Given the description of an element on the screen output the (x, y) to click on. 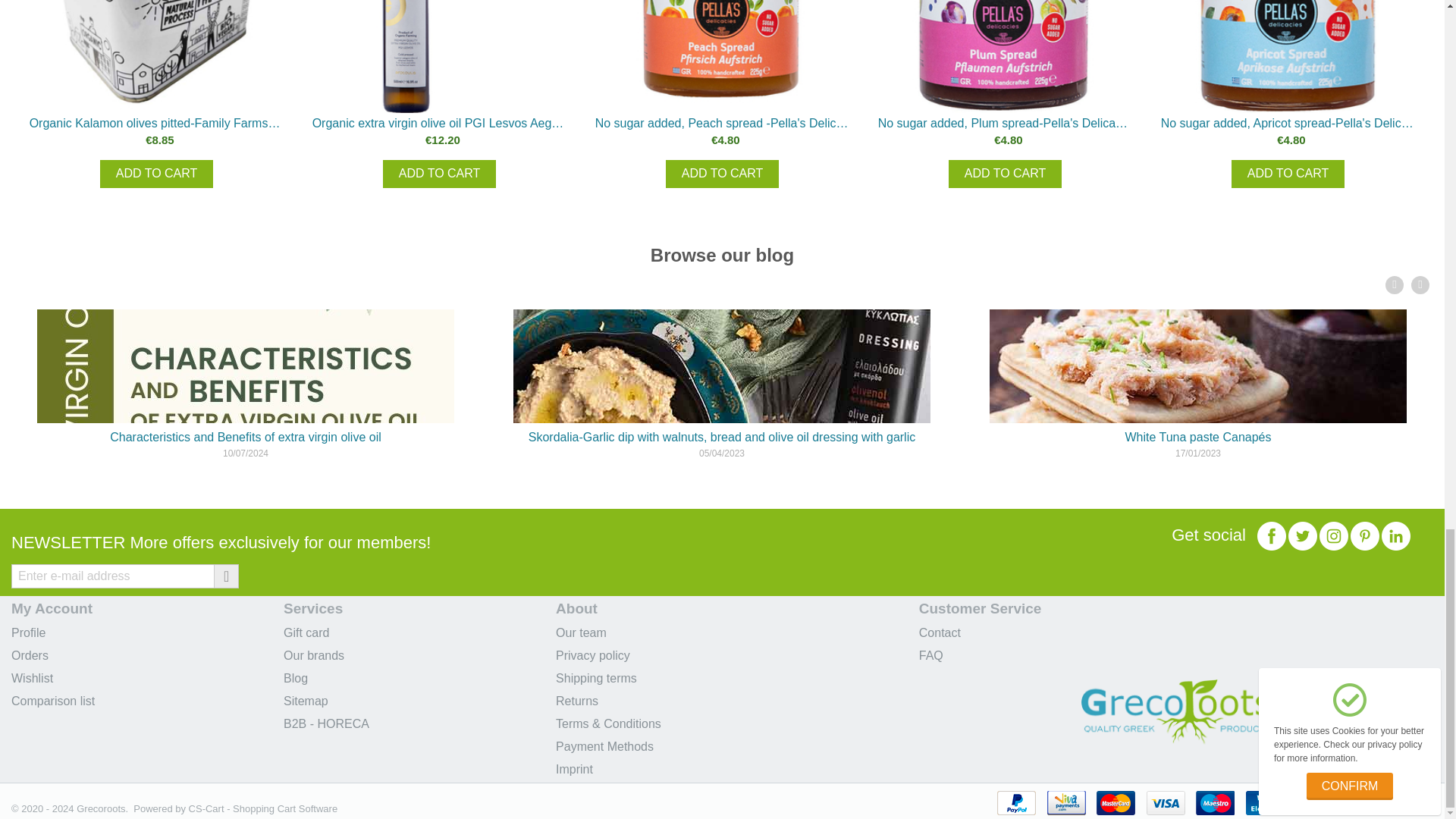
Enter e-mail address (124, 576)
